Given the description of an element on the screen output the (x, y) to click on. 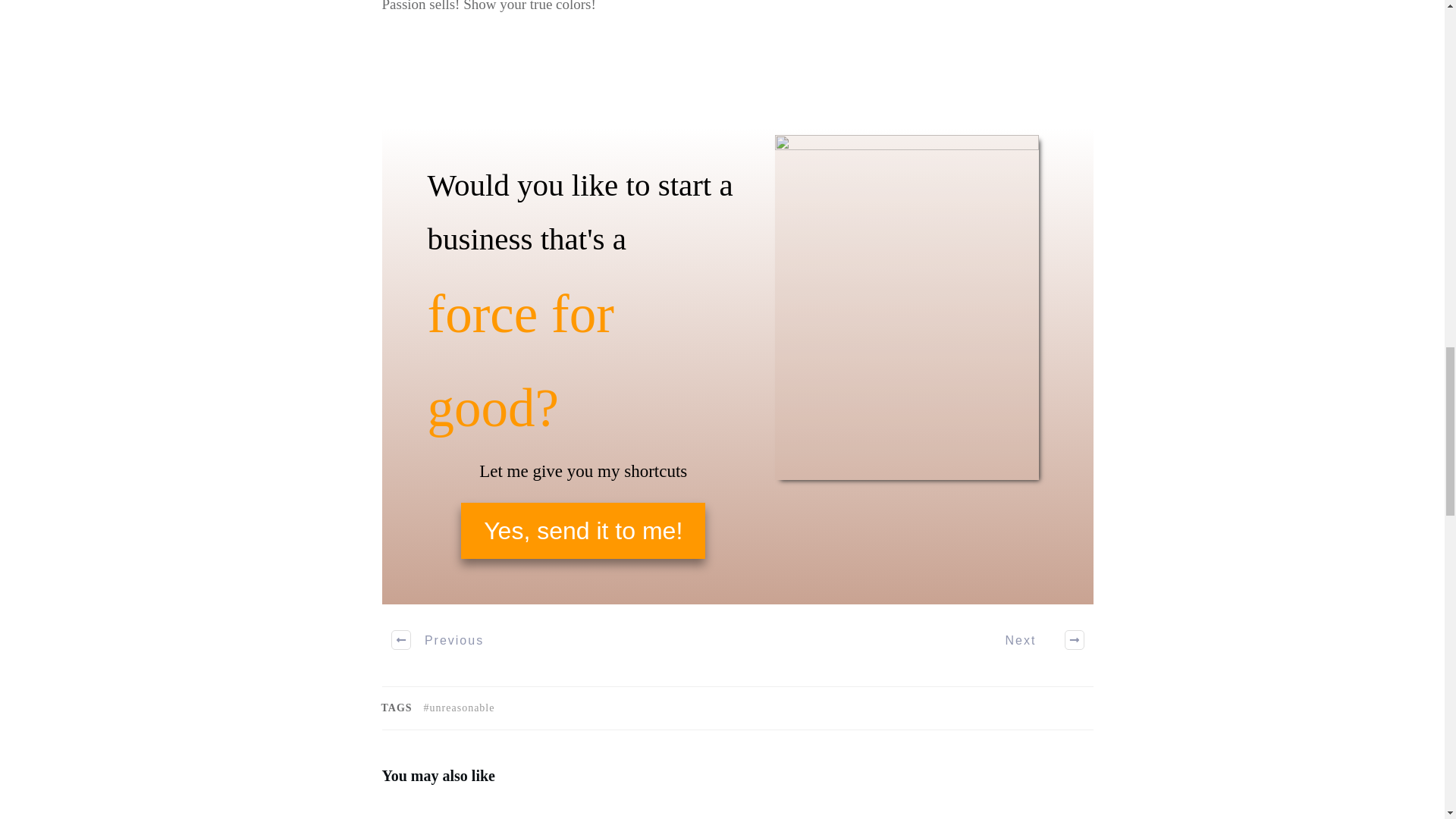
Previous (438, 639)
Afraid of your big mission? This is for you (918, 810)
Yes, send it to me! (582, 530)
Next (1036, 639)
